Given the description of an element on the screen output the (x, y) to click on. 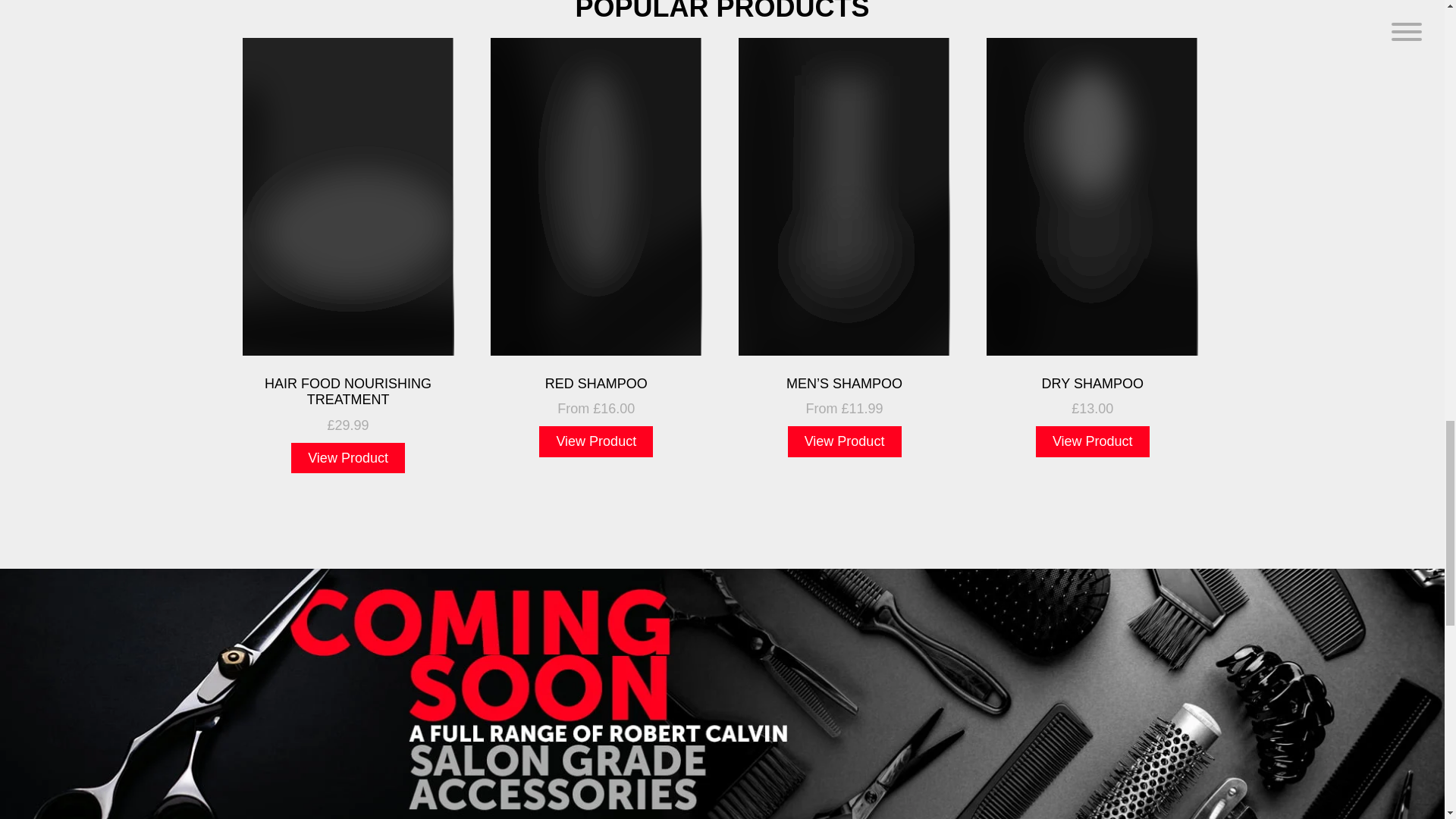
View Product (1092, 440)
View Product (347, 458)
View Product (595, 440)
View Product (844, 440)
